Given the description of an element on the screen output the (x, y) to click on. 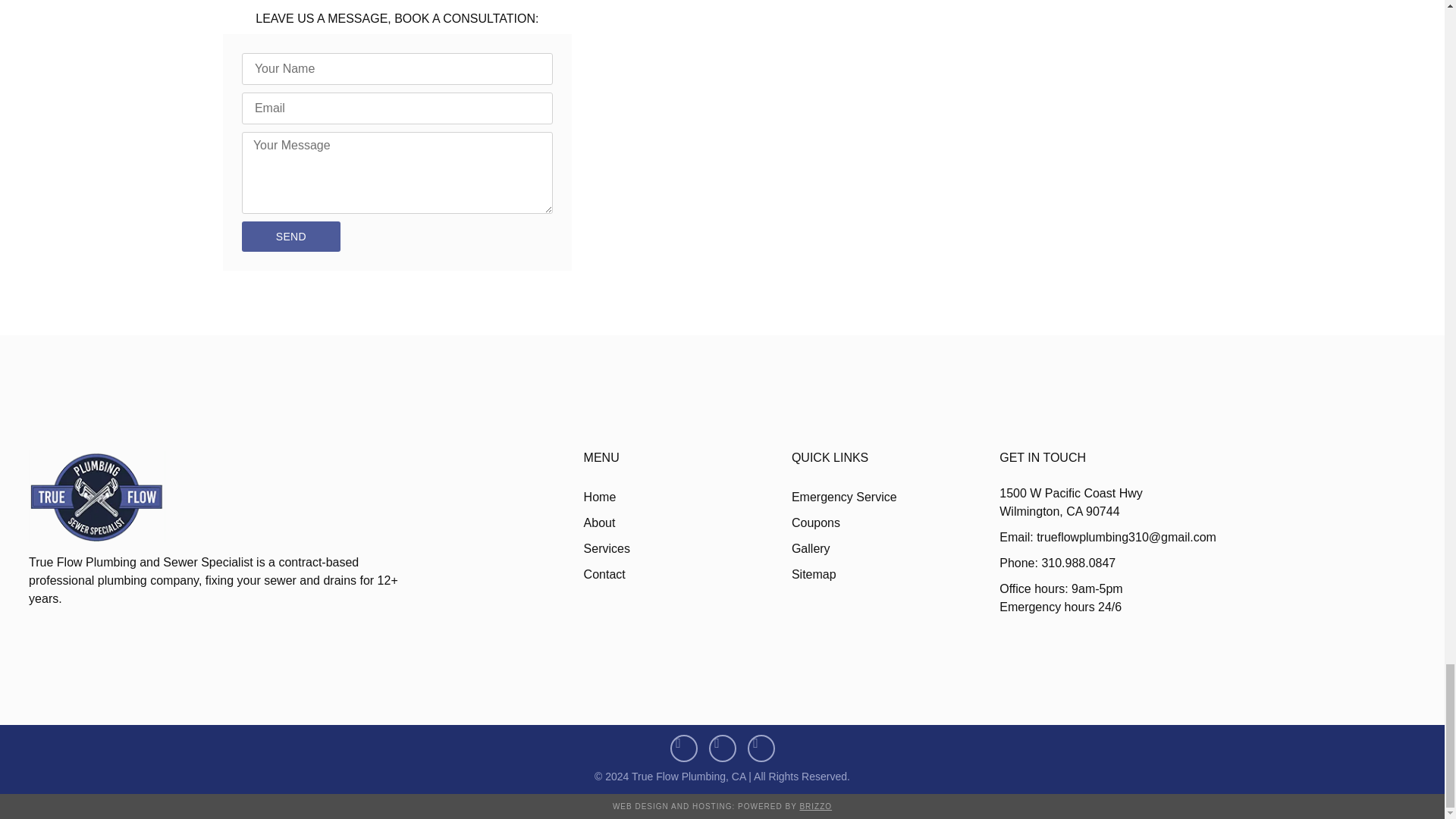
Contact (687, 574)
SEND (290, 236)
About (687, 523)
Services (687, 548)
Home (687, 497)
